Given the description of an element on the screen output the (x, y) to click on. 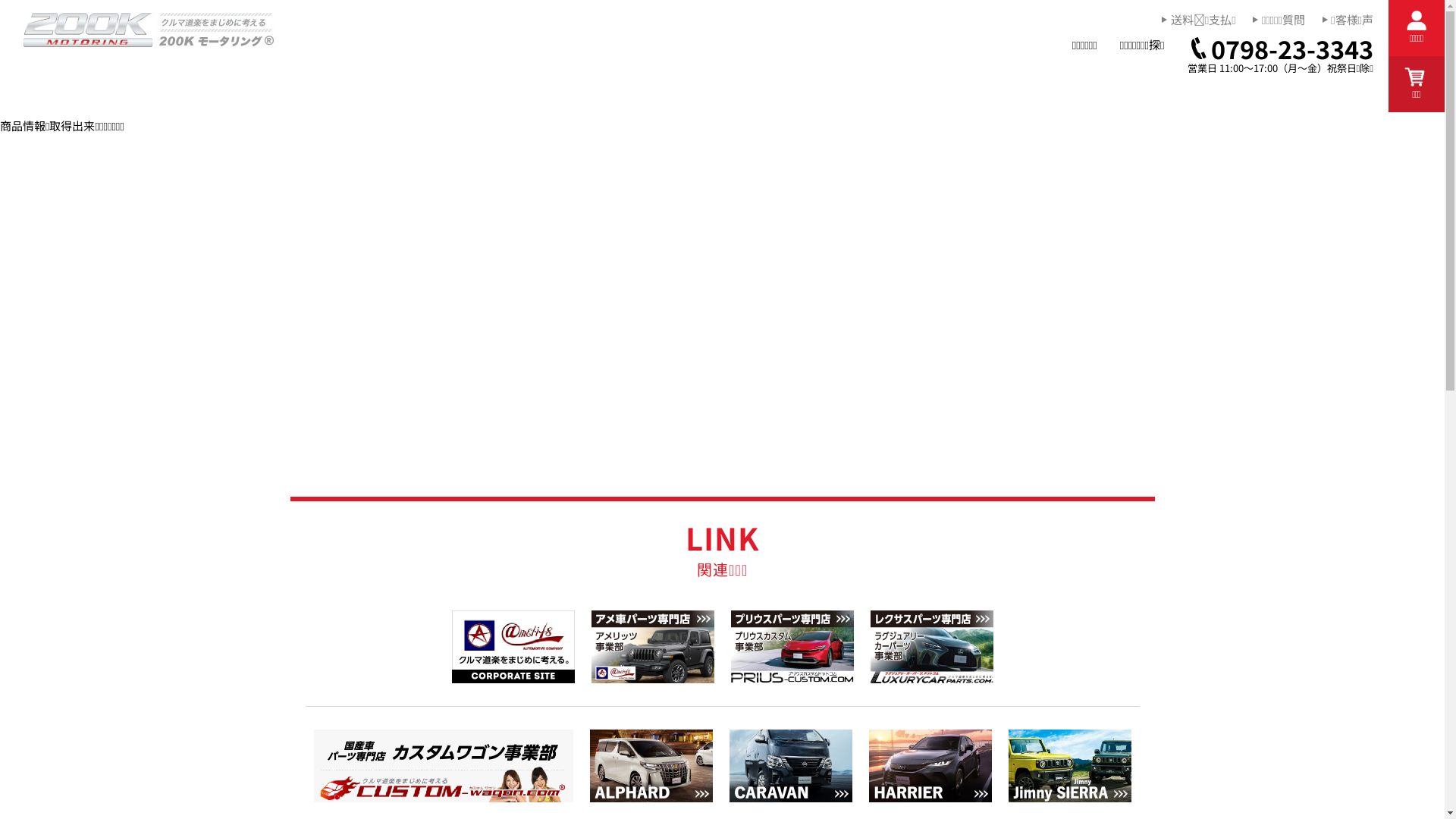
0798-23-3343 Element type: text (1280, 48)
